Given the description of an element on the screen output the (x, y) to click on. 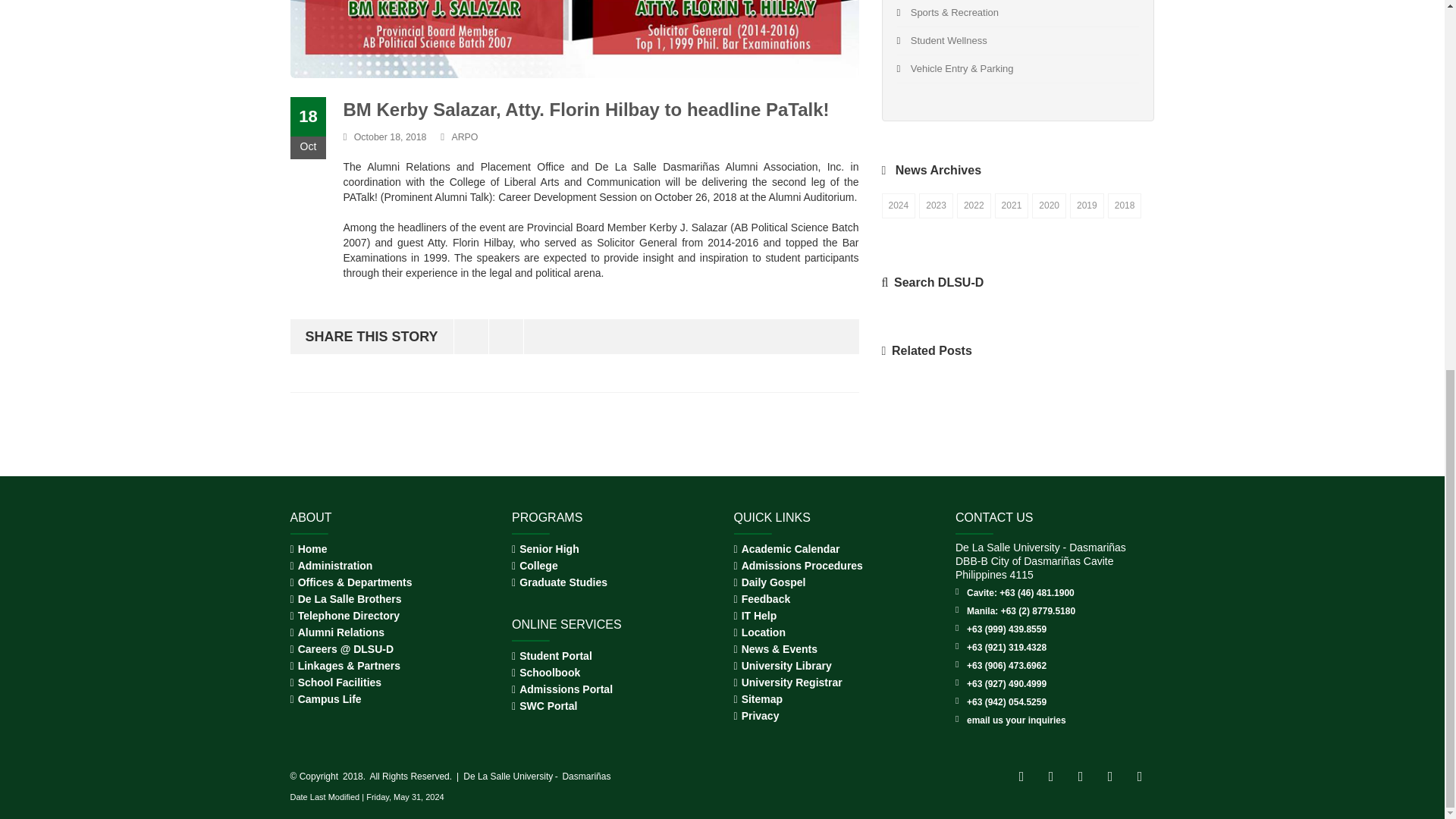
Facebook (505, 336)
Twitter (470, 336)
